Given the description of an element on the screen output the (x, y) to click on. 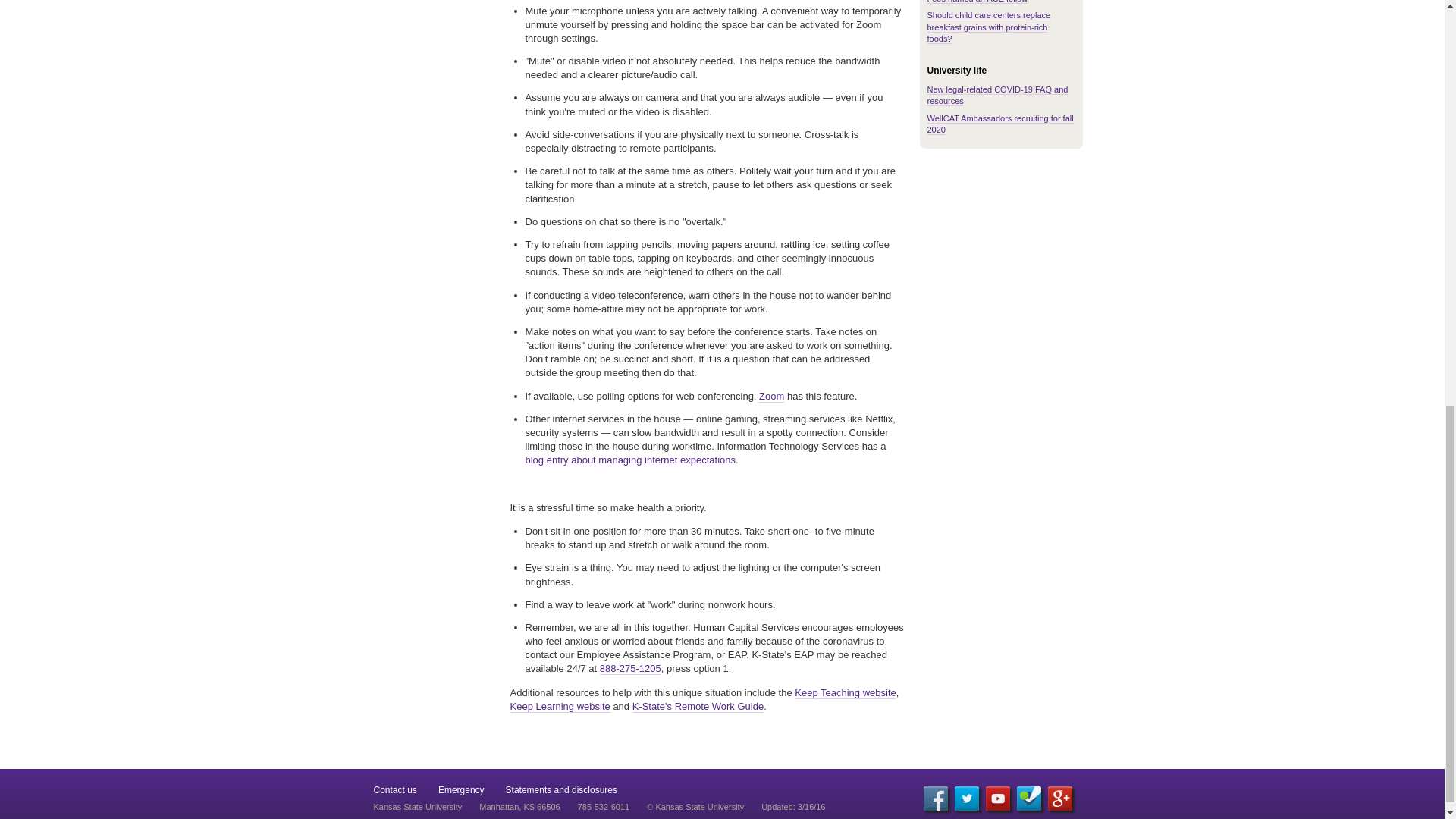
blog entry about managing internet expectations (629, 460)
Keep Learning website (559, 706)
888-275-1205 (630, 668)
Zoom (771, 396)
Keep Teaching website (844, 693)
Twitter (965, 798)
